Given the description of an element on the screen output the (x, y) to click on. 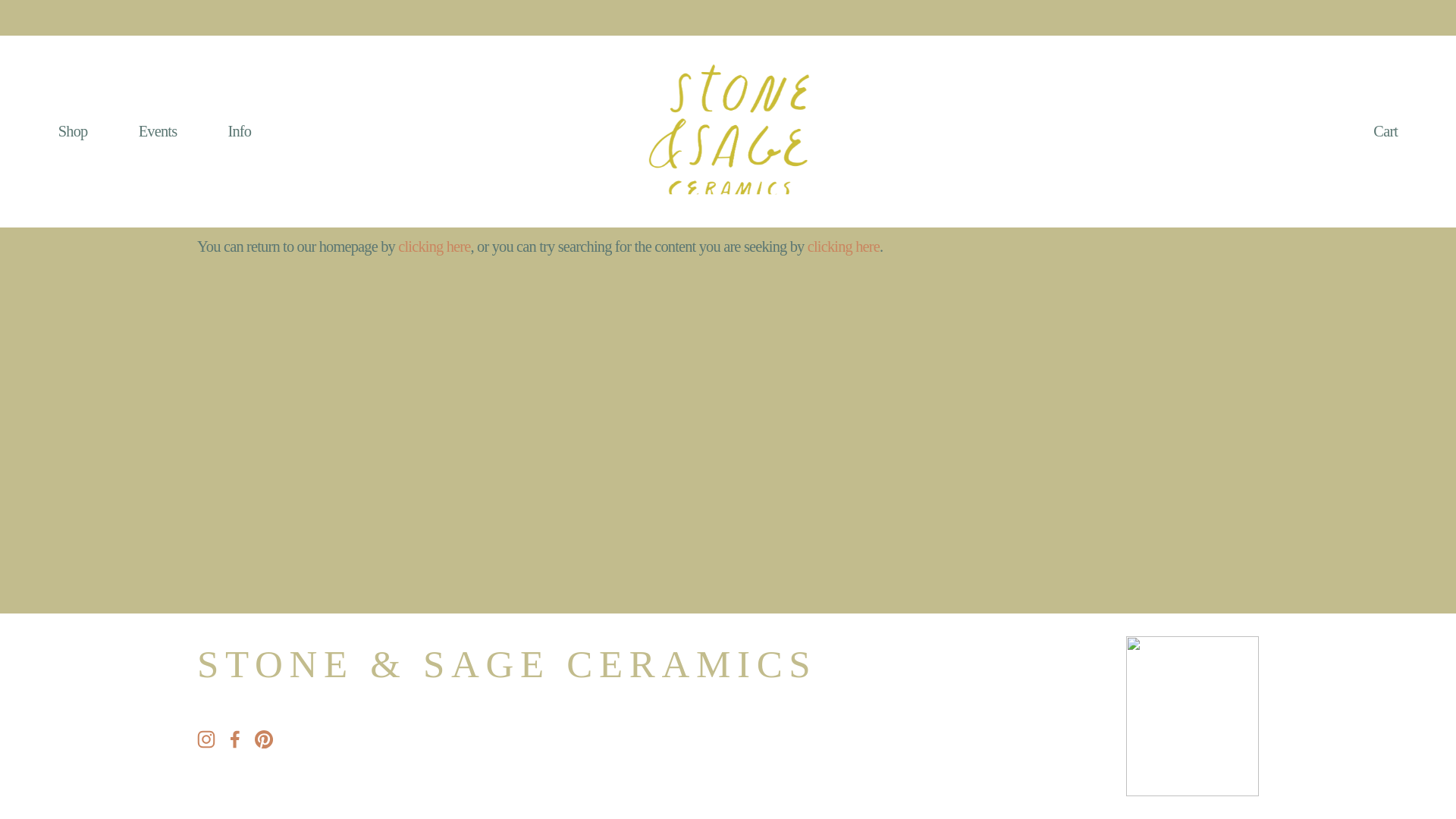
clicking here (843, 246)
Events (157, 131)
Cart (1385, 131)
clicking here (433, 246)
Shop (72, 131)
